Given the description of an element on the screen output the (x, y) to click on. 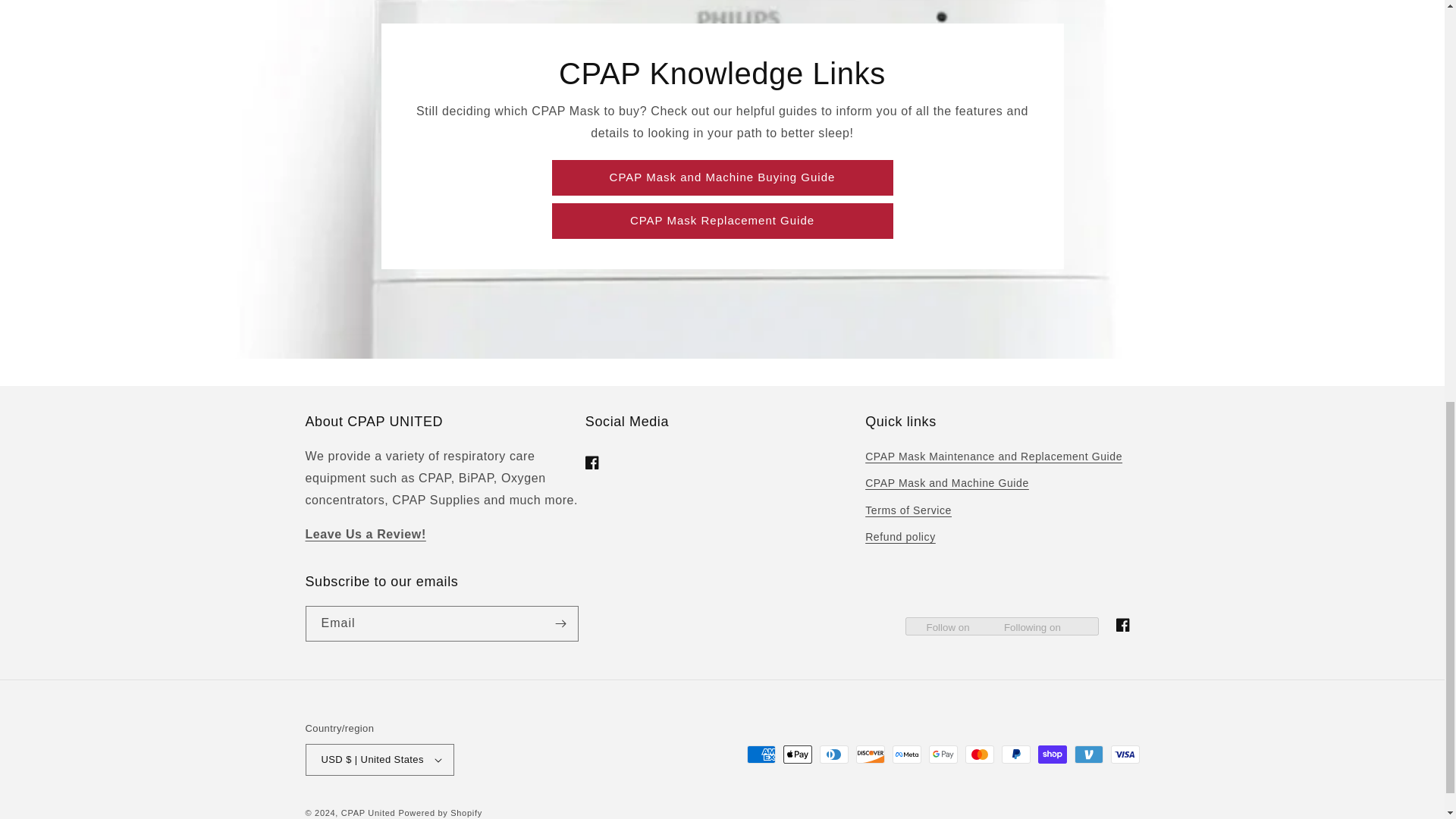
Review us on Google (364, 533)
